Given the description of an element on the screen output the (x, y) to click on. 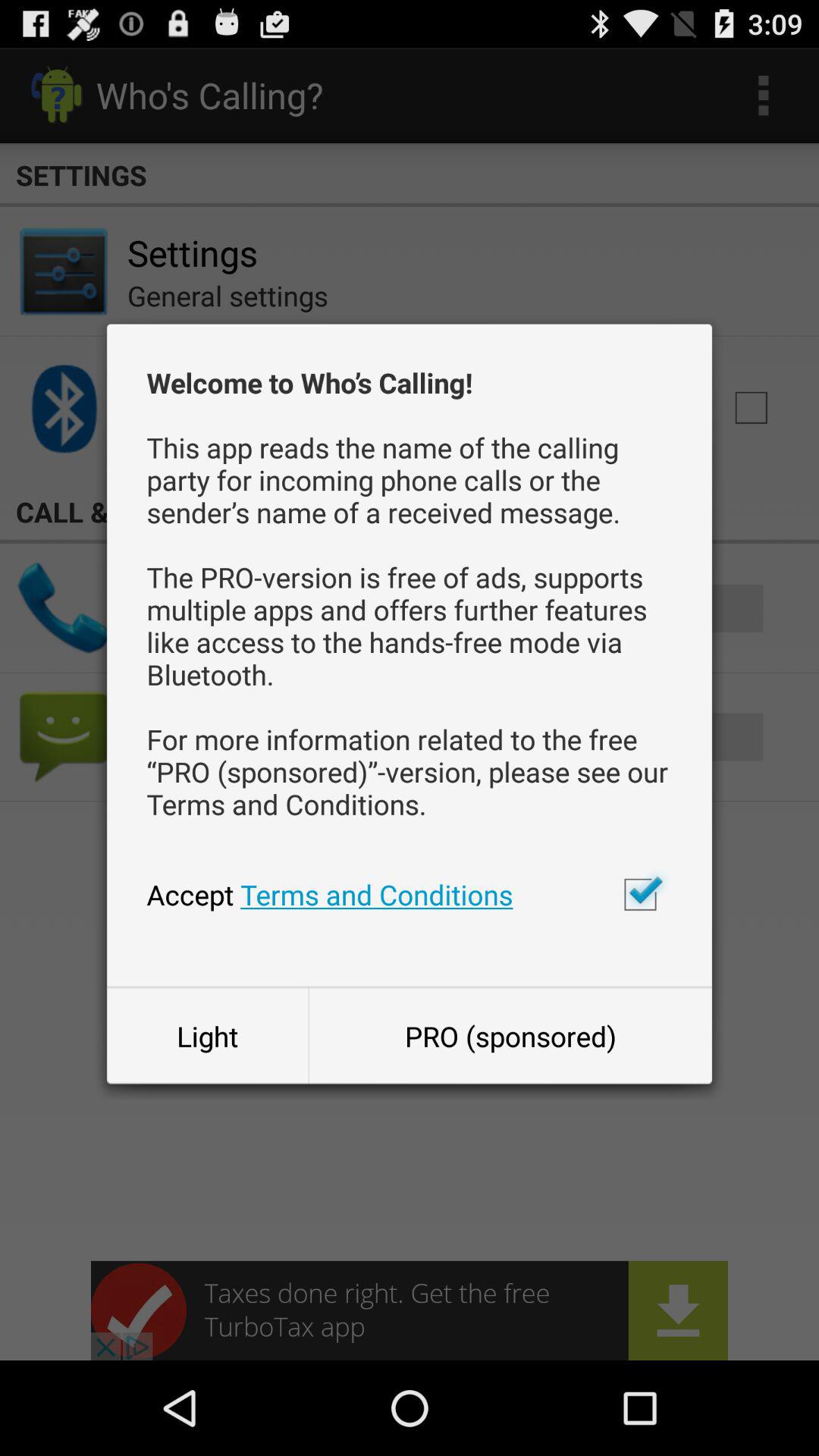
launch item next to light icon (510, 1036)
